Given the description of an element on the screen output the (x, y) to click on. 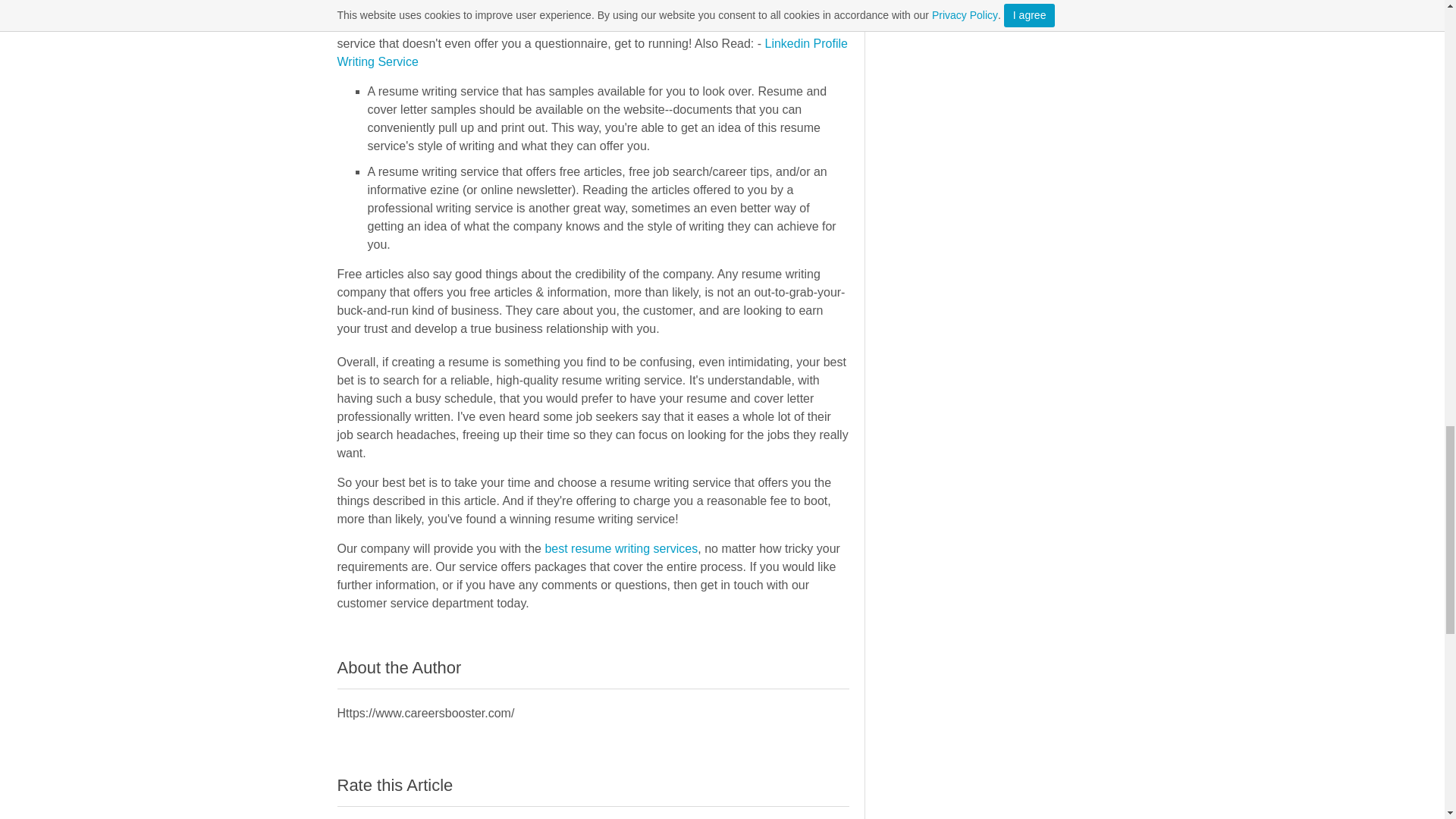
Linkedin Profile Writing Service (591, 51)
best resume writing services (620, 548)
